Given the description of an element on the screen output the (x, y) to click on. 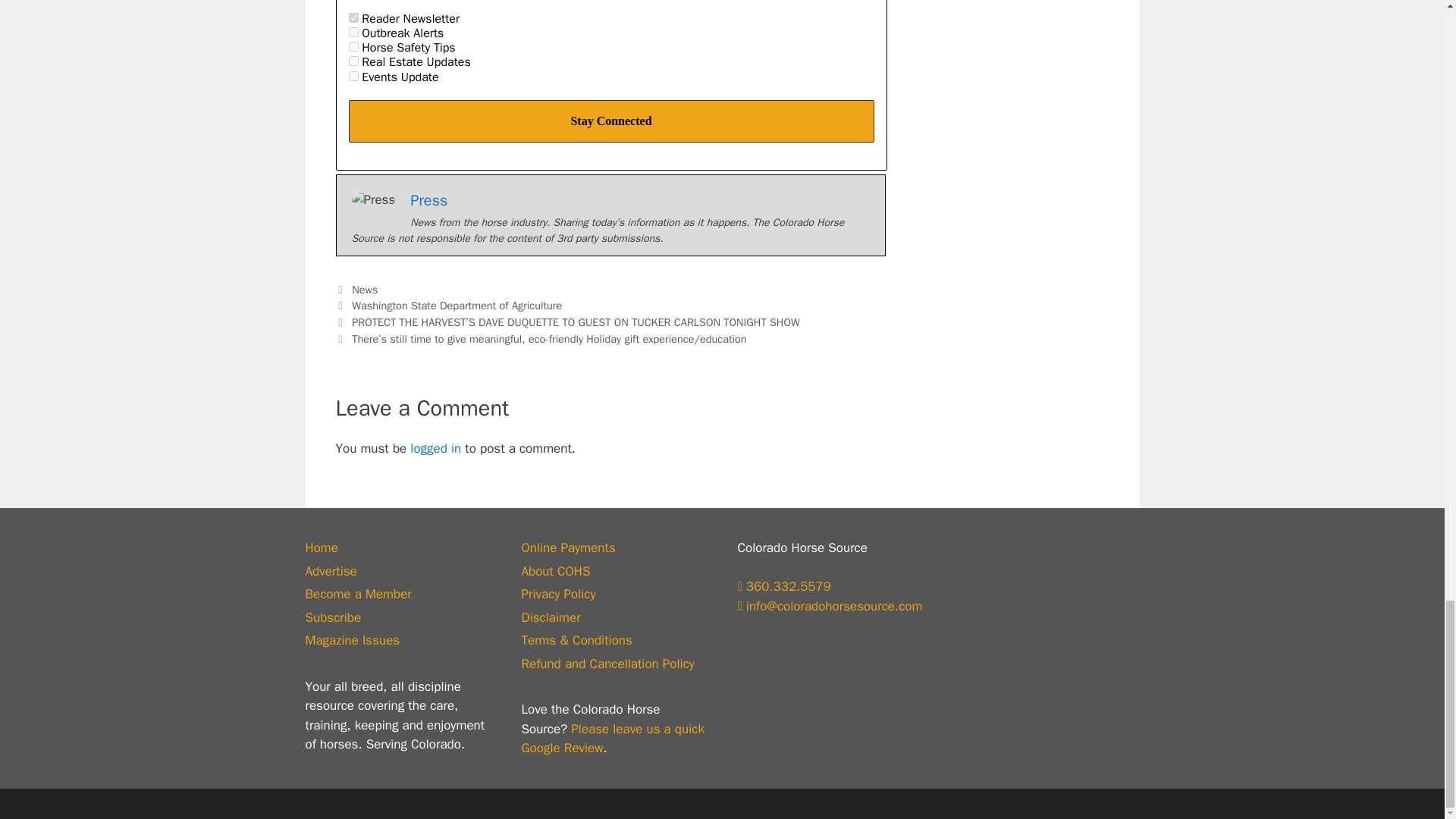
19 (353, 76)
Stay Connected (612, 120)
18 (353, 31)
16 (353, 61)
17 (353, 17)
14 (353, 46)
